Given the description of an element on the screen output the (x, y) to click on. 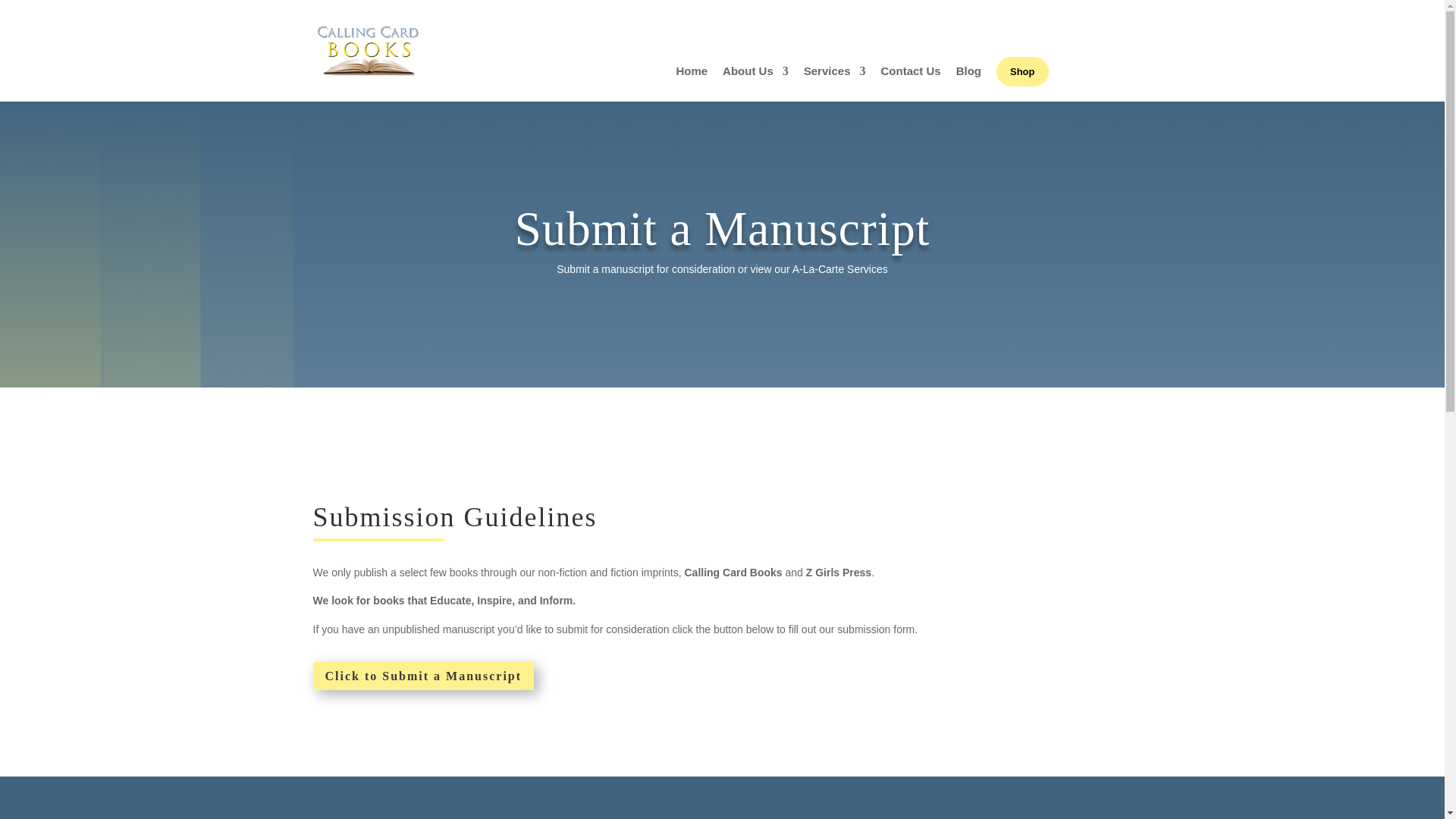
Contact Us (910, 83)
Shop (1021, 71)
About Us (755, 83)
Services (834, 83)
Home (691, 83)
